Given the description of an element on the screen output the (x, y) to click on. 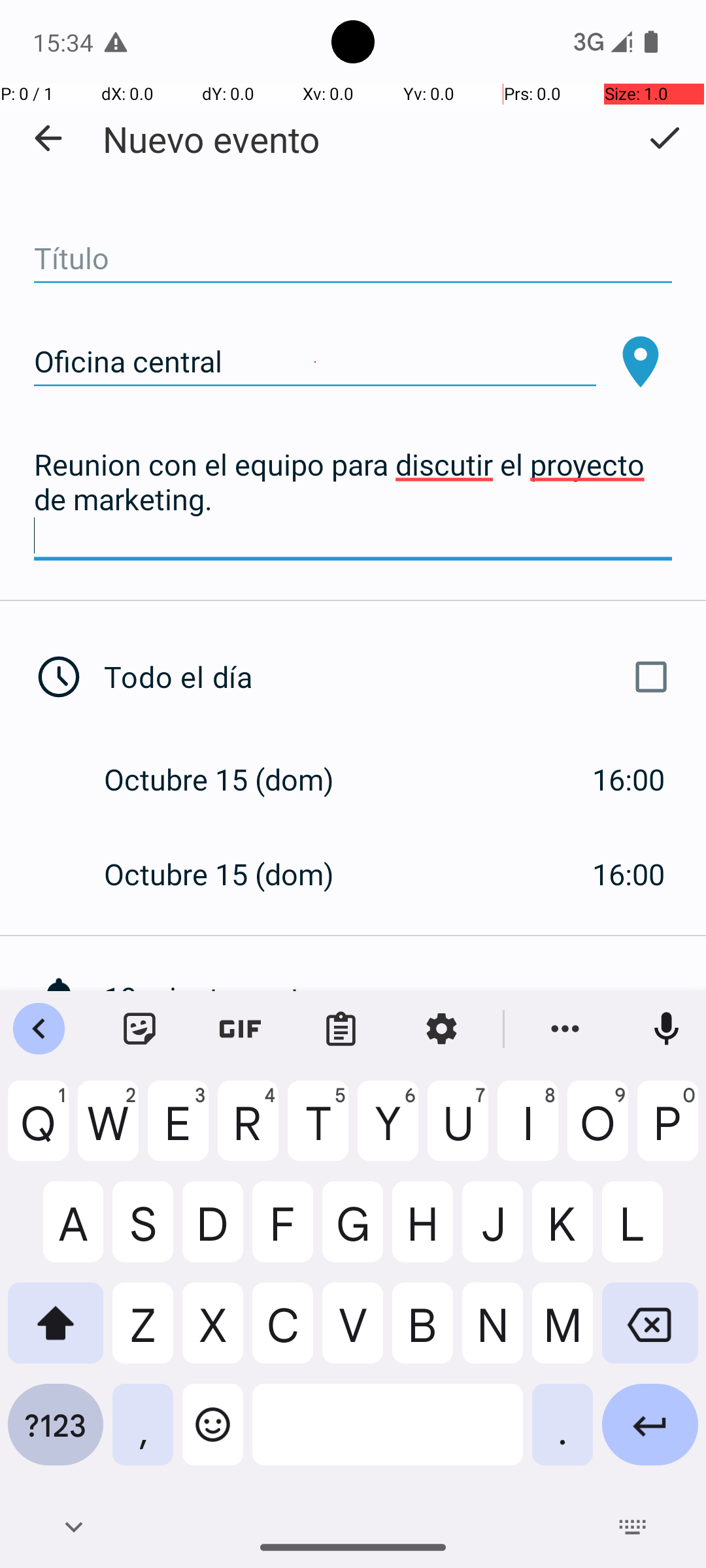
Título Element type: android.widget.EditText (352, 258)
Oficina central Element type: android.widget.EditText (314, 361)
Reunion con el equipo para discutir el proyecto de marketing.
 Element type: android.widget.EditText (352, 499)
